Given the description of an element on the screen output the (x, y) to click on. 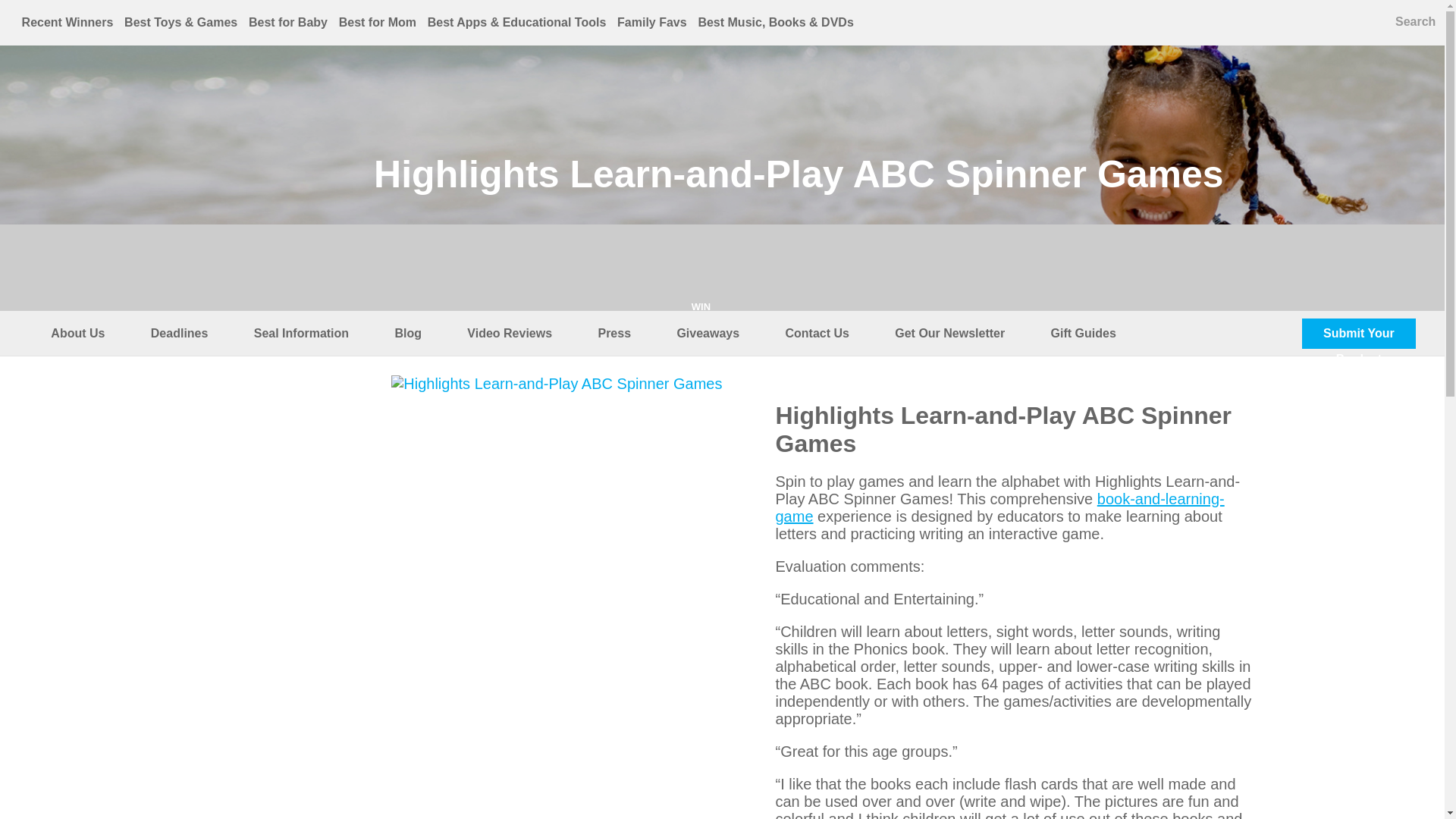
Recent Winners (67, 21)
Best for Mom (377, 21)
Best for Baby (287, 21)
Family Favs (652, 21)
